Given the description of an element on the screen output the (x, y) to click on. 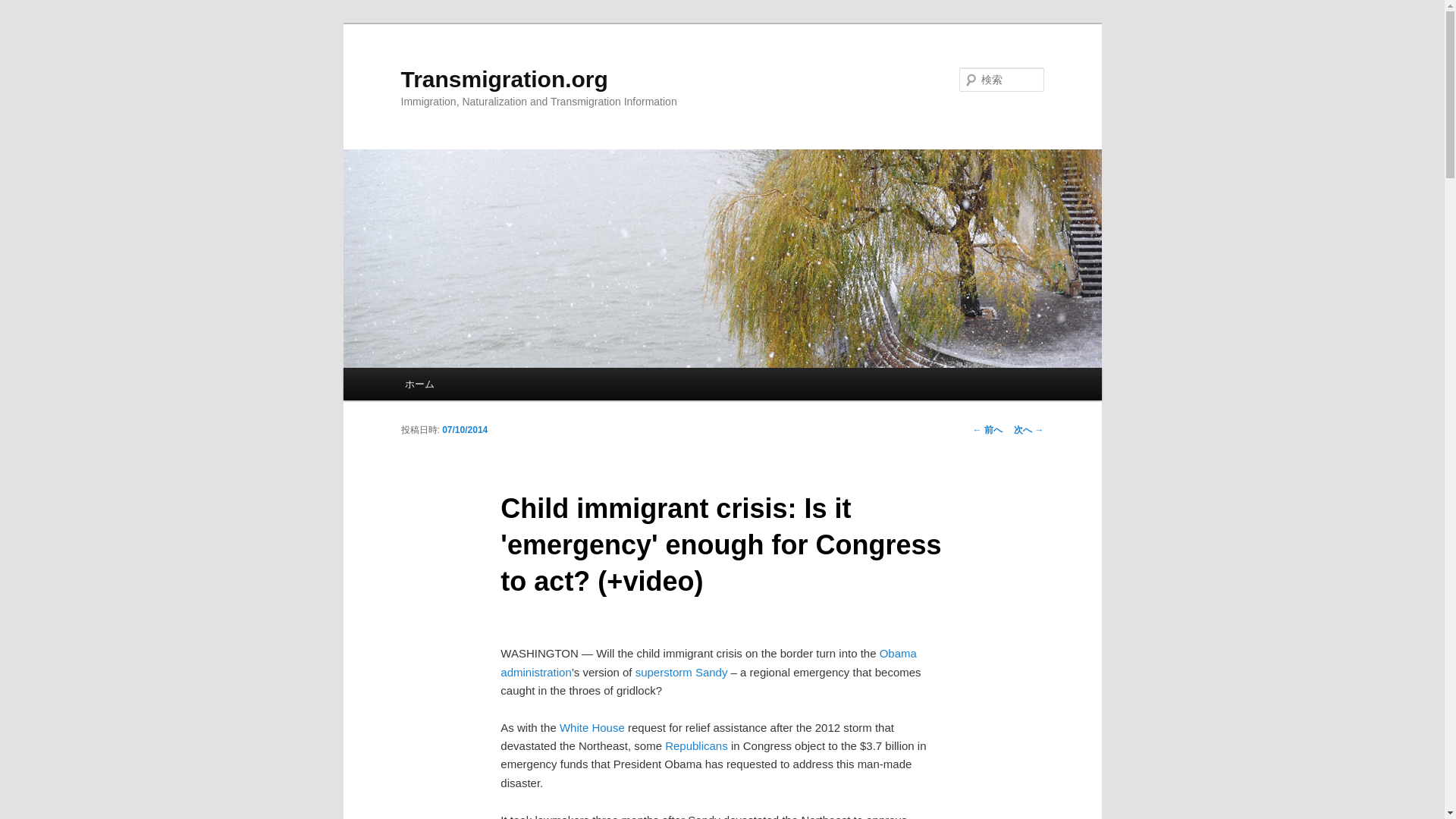
Obama administration (708, 662)
Transmigration.org (503, 78)
Title: Hurricane Sandy (681, 671)
superstorm Sandy (681, 671)
9:16 PM (464, 429)
White House (591, 727)
Title: Barack Obama (708, 662)
Title: U.S. Republican Party (696, 745)
Republicans (696, 745)
Transmigration.org (503, 78)
